Given the description of an element on the screen output the (x, y) to click on. 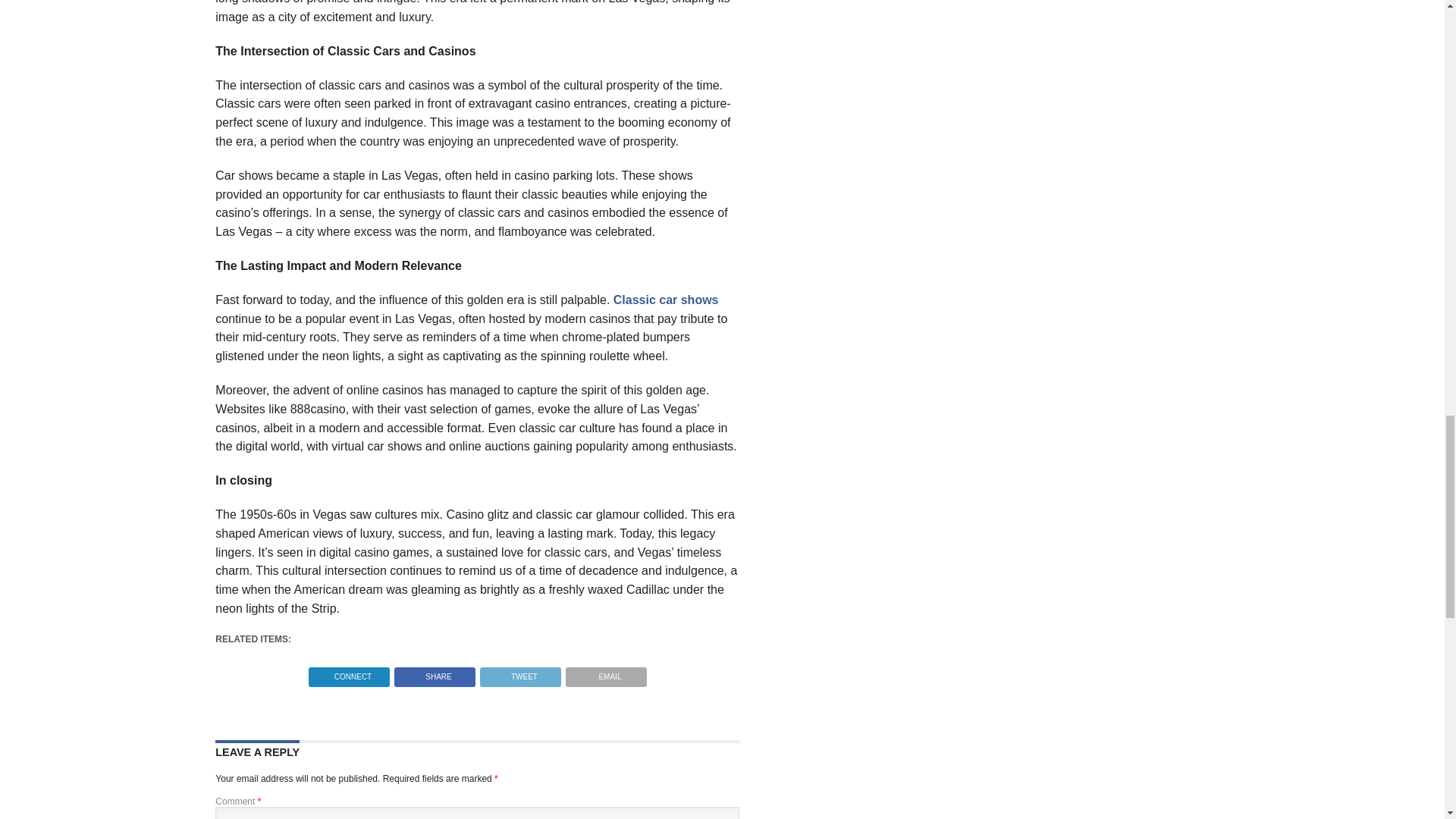
Share on LinkedIn (349, 672)
Tweet This Post (520, 672)
Share on Facebook (434, 672)
